Given the description of an element on the screen output the (x, y) to click on. 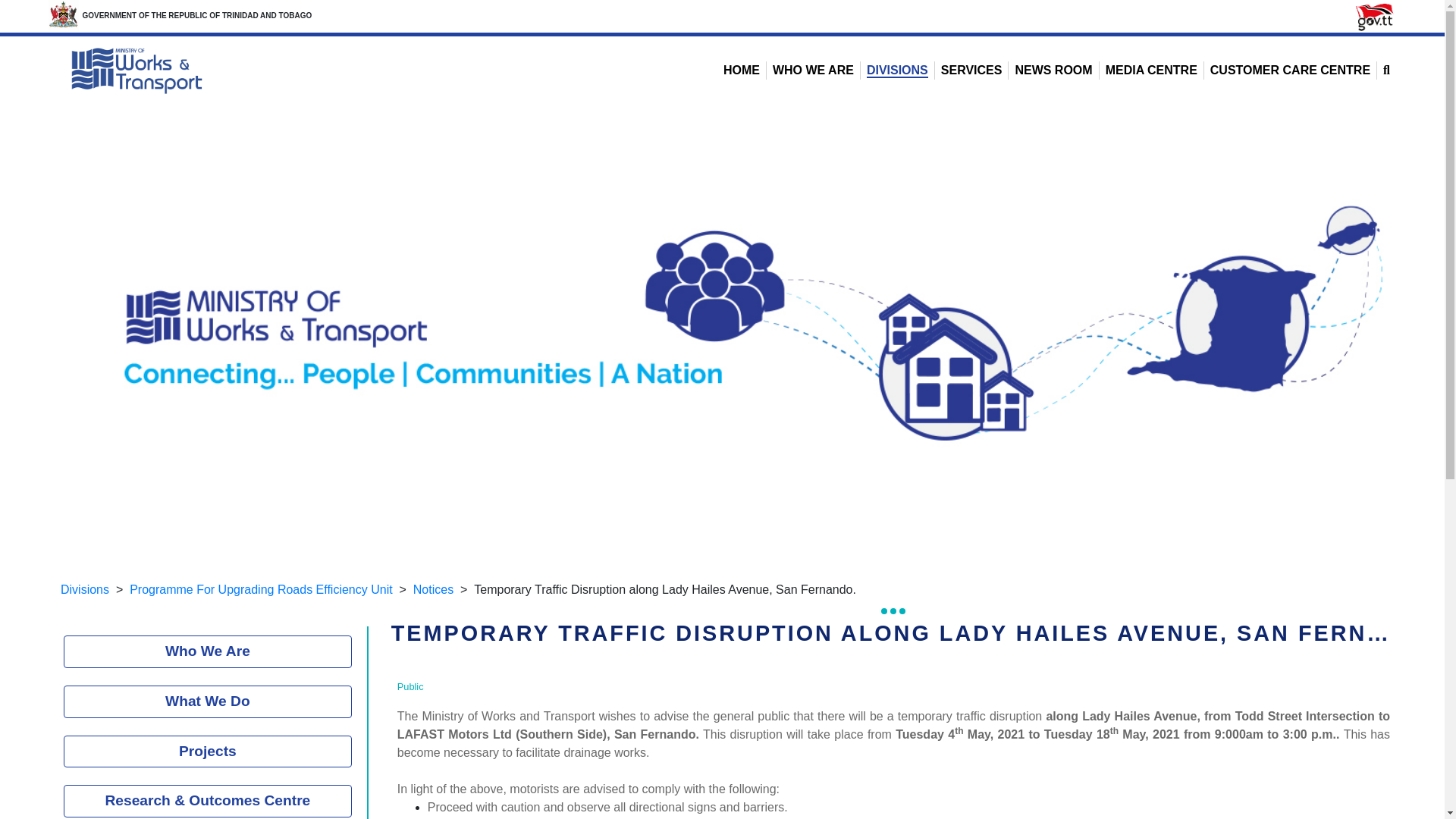
CUSTOMER CARE CENTRE (1289, 69)
Who We Are (208, 651)
Projects (208, 751)
Trinidad and Tobago (63, 15)
MEDIA CENTRE (1150, 69)
Programme For Upgrading Roads Efficiency Unit (261, 589)
Notices (432, 589)
NEWS ROOM (1053, 69)
Divisions (85, 589)
HOME (741, 69)
What We Do (208, 701)
DIVISIONS (897, 70)
WHO WE ARE (813, 69)
gov.tt (1374, 16)
SERVICES (971, 69)
